Given the description of an element on the screen output the (x, y) to click on. 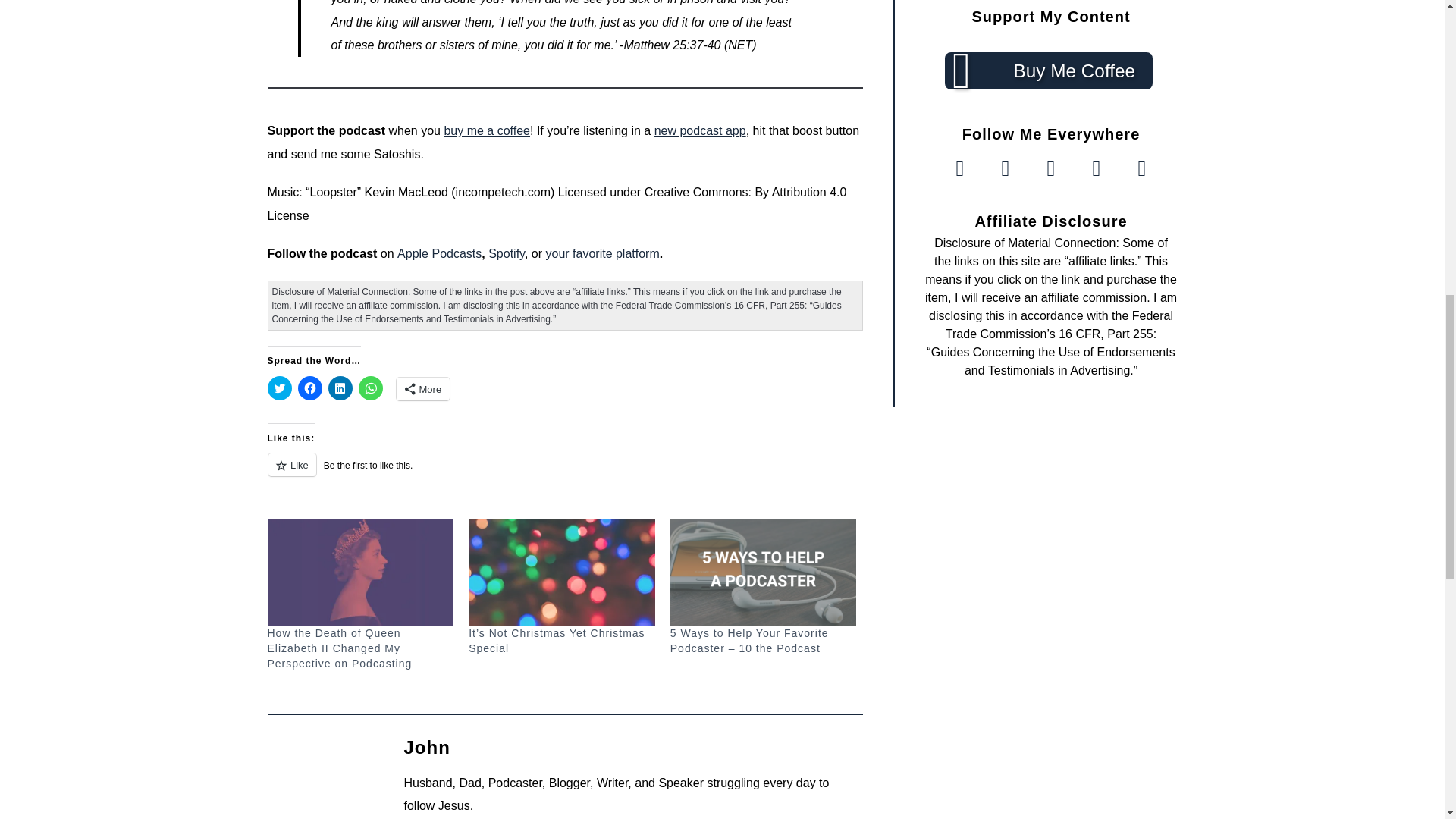
Apple Podcasts (439, 253)
More (422, 388)
Click to share on WhatsApp (369, 387)
Spotify (505, 253)
Like or Reblog (563, 473)
Click to share on LinkedIn (339, 387)
Click to share on Twitter (278, 387)
Click to share on Facebook (309, 387)
new podcast app (699, 130)
buy me a coffee (486, 130)
your favorite platform (601, 253)
